Given the description of an element on the screen output the (x, y) to click on. 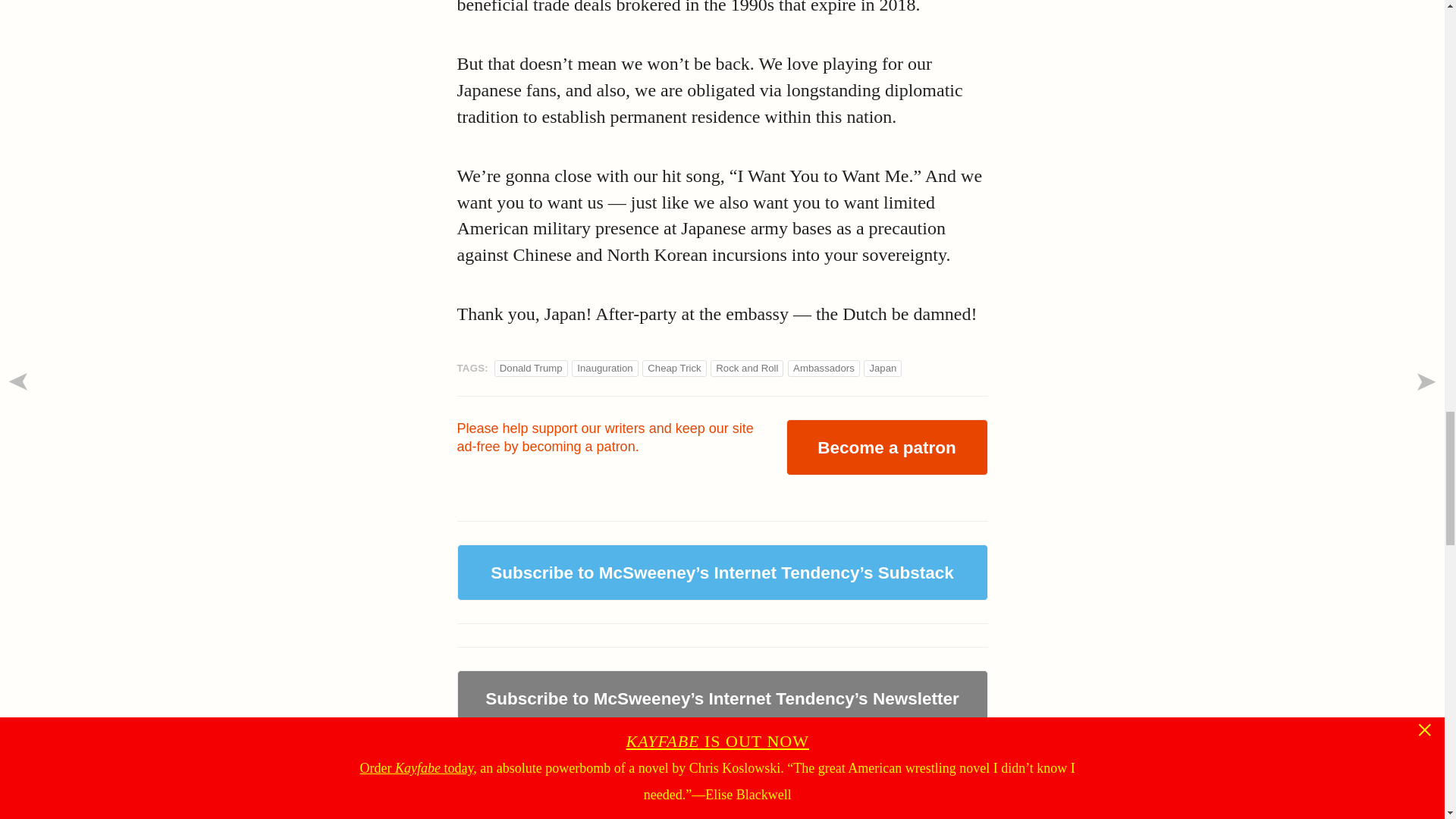
Ambassadors (823, 367)
Japan (882, 367)
Rock and Roll (746, 367)
Cheap Trick (673, 367)
Donald Trump (530, 367)
Inauguration (603, 367)
Become a patron (886, 447)
